Given the description of an element on the screen output the (x, y) to click on. 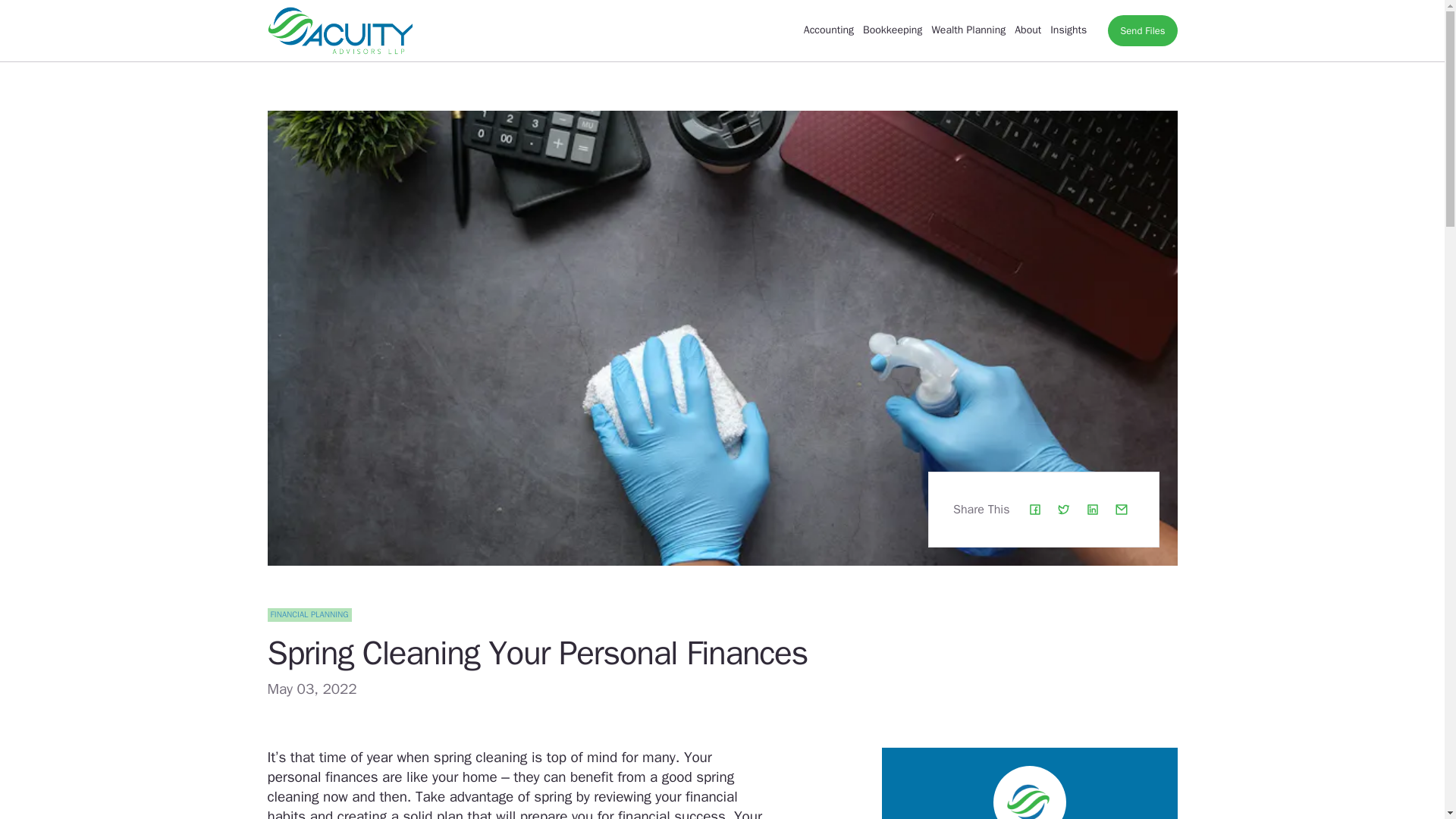
Insights (1067, 30)
Bookkeeping (892, 30)
Wealth Planning (968, 30)
Send Files (1142, 30)
Accounting (828, 30)
About (1027, 30)
